Given the description of an element on the screen output the (x, y) to click on. 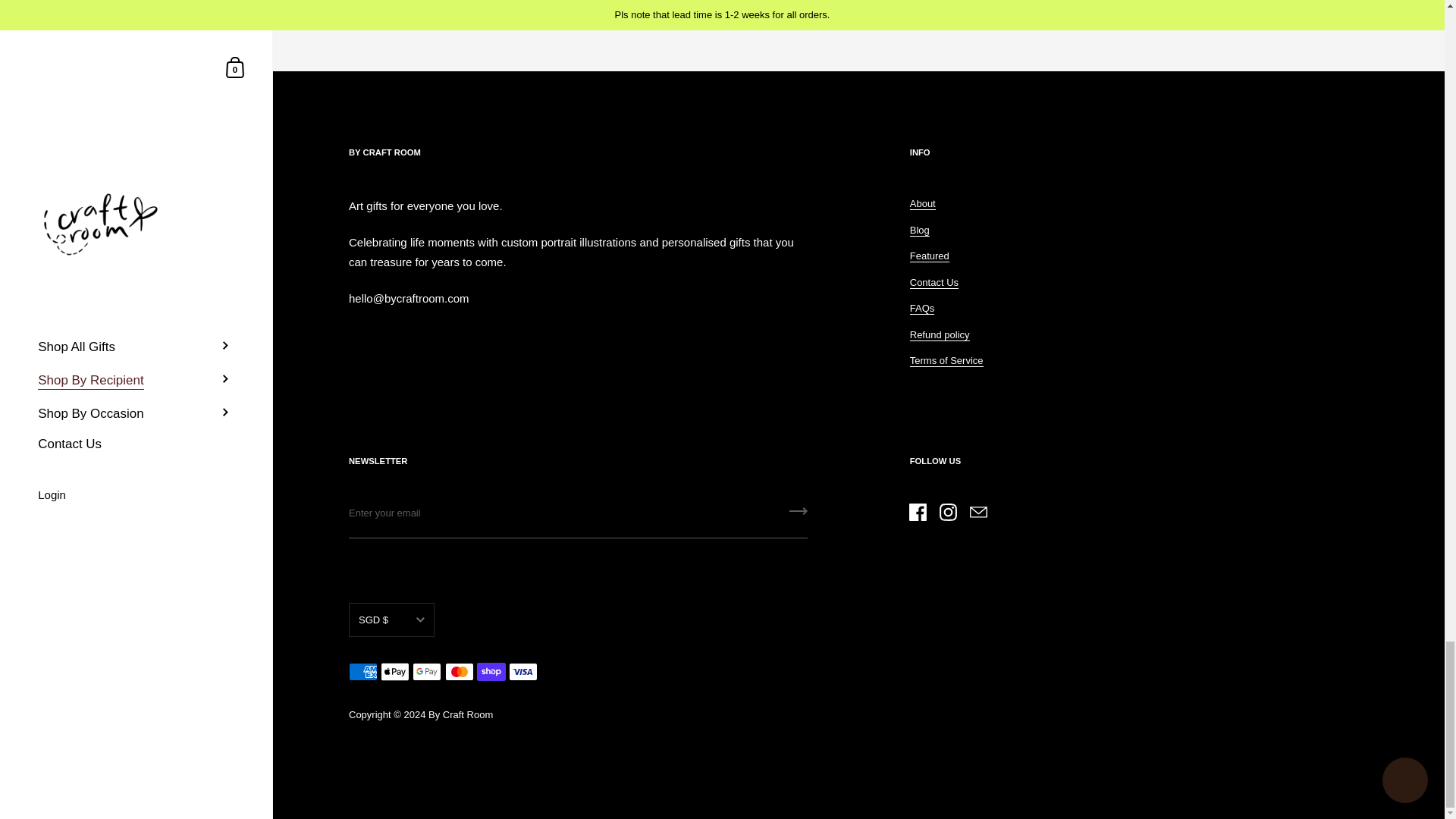
Apple Pay (394, 671)
American Express (363, 671)
Mastercard (459, 671)
Google Pay (426, 671)
